Given the description of an element on the screen output the (x, y) to click on. 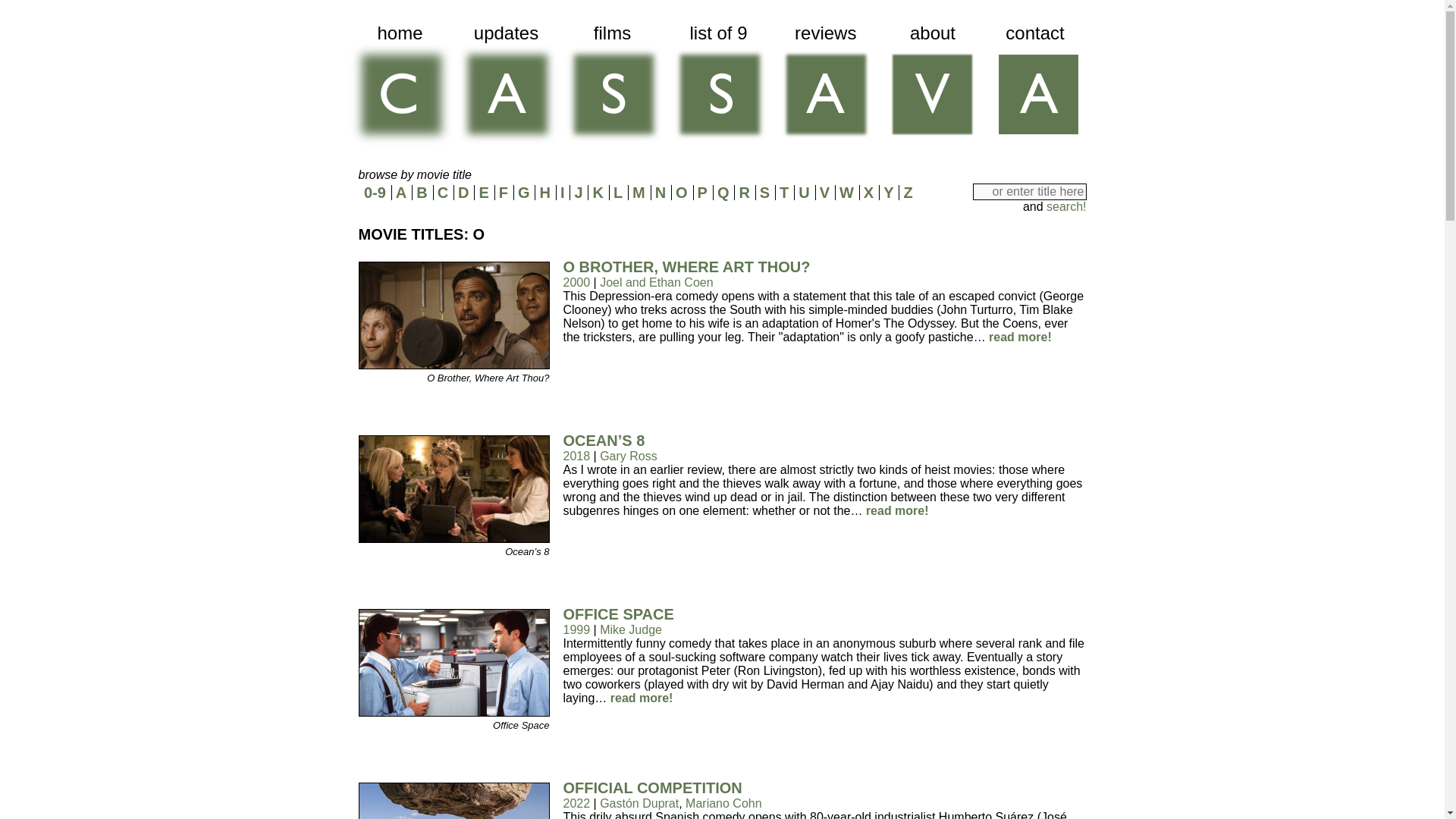
Joel and Ethan Coen (656, 282)
home (399, 85)
O Brother, Where Art Thou? (453, 364)
0-9 (374, 192)
2000 (575, 282)
films (611, 85)
Office Space (453, 712)
